Given the description of an element on the screen output the (x, y) to click on. 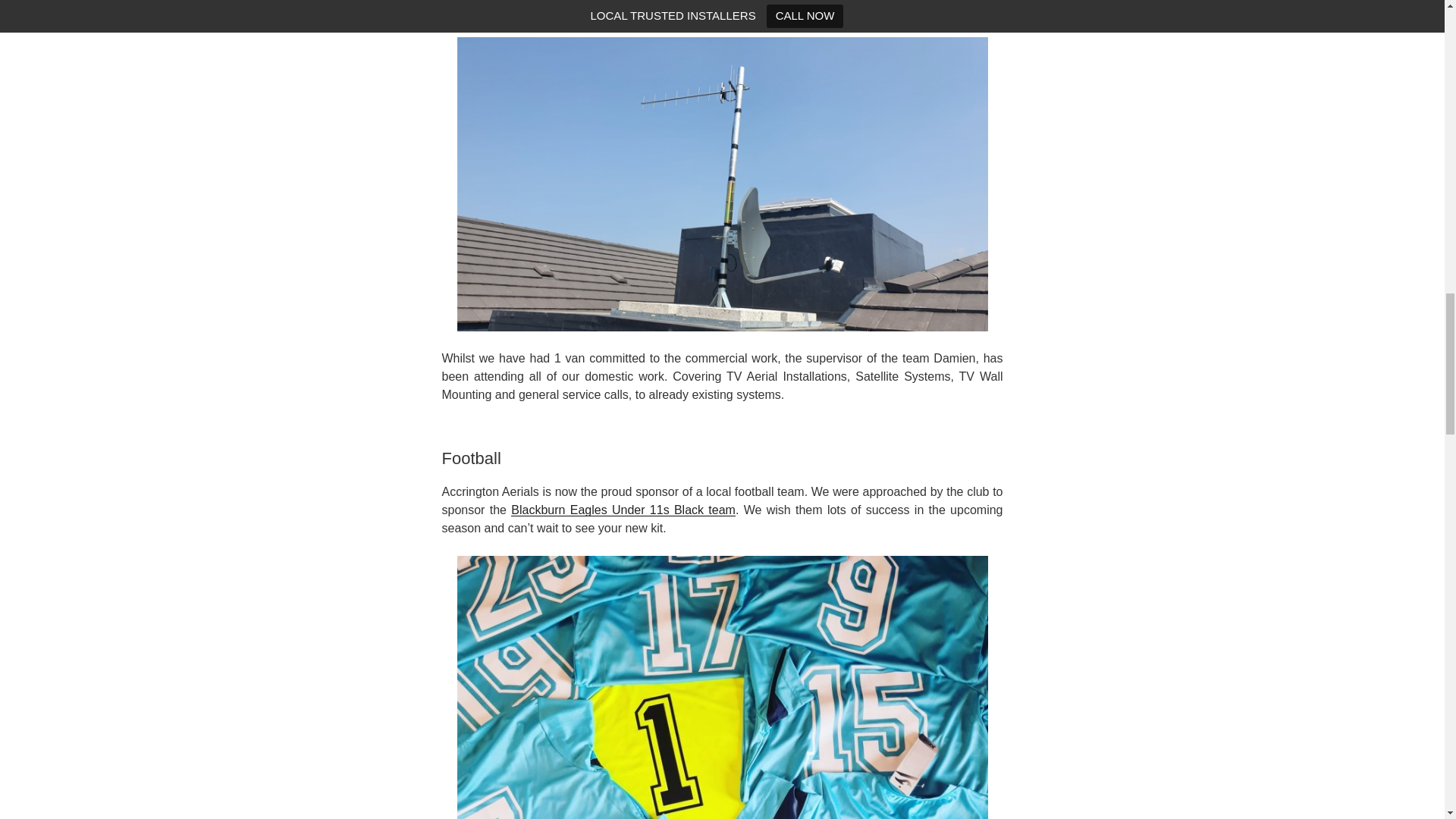
Blackburn Eagles Under 11s Black team (623, 509)
